Given the description of an element on the screen output the (x, y) to click on. 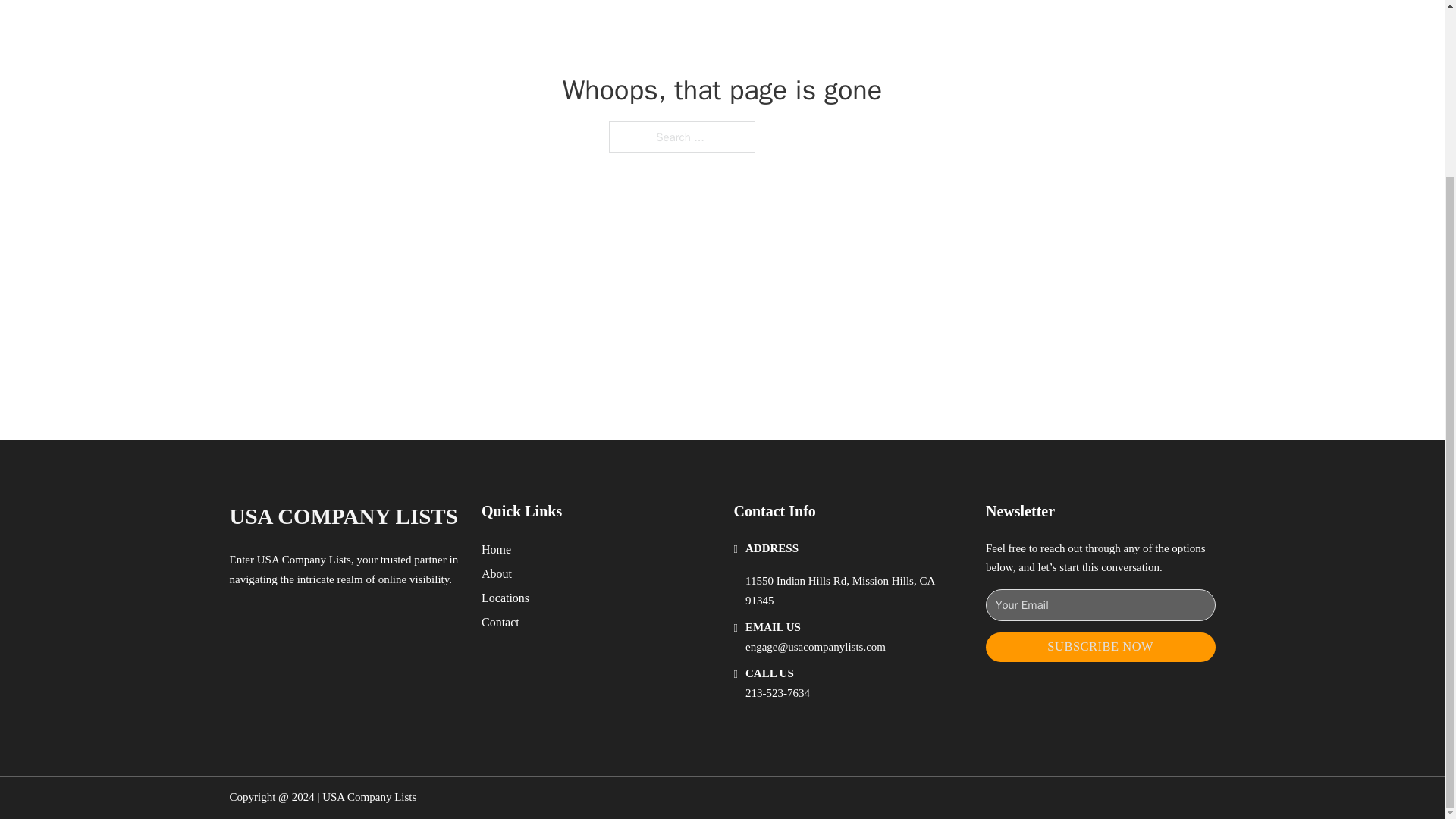
Contact (500, 621)
SUBSCRIBE NOW (1100, 646)
USA COMPANY LISTS (342, 516)
213-523-7634 (777, 693)
Locations (505, 598)
About (496, 573)
Home (496, 548)
